Given the description of an element on the screen output the (x, y) to click on. 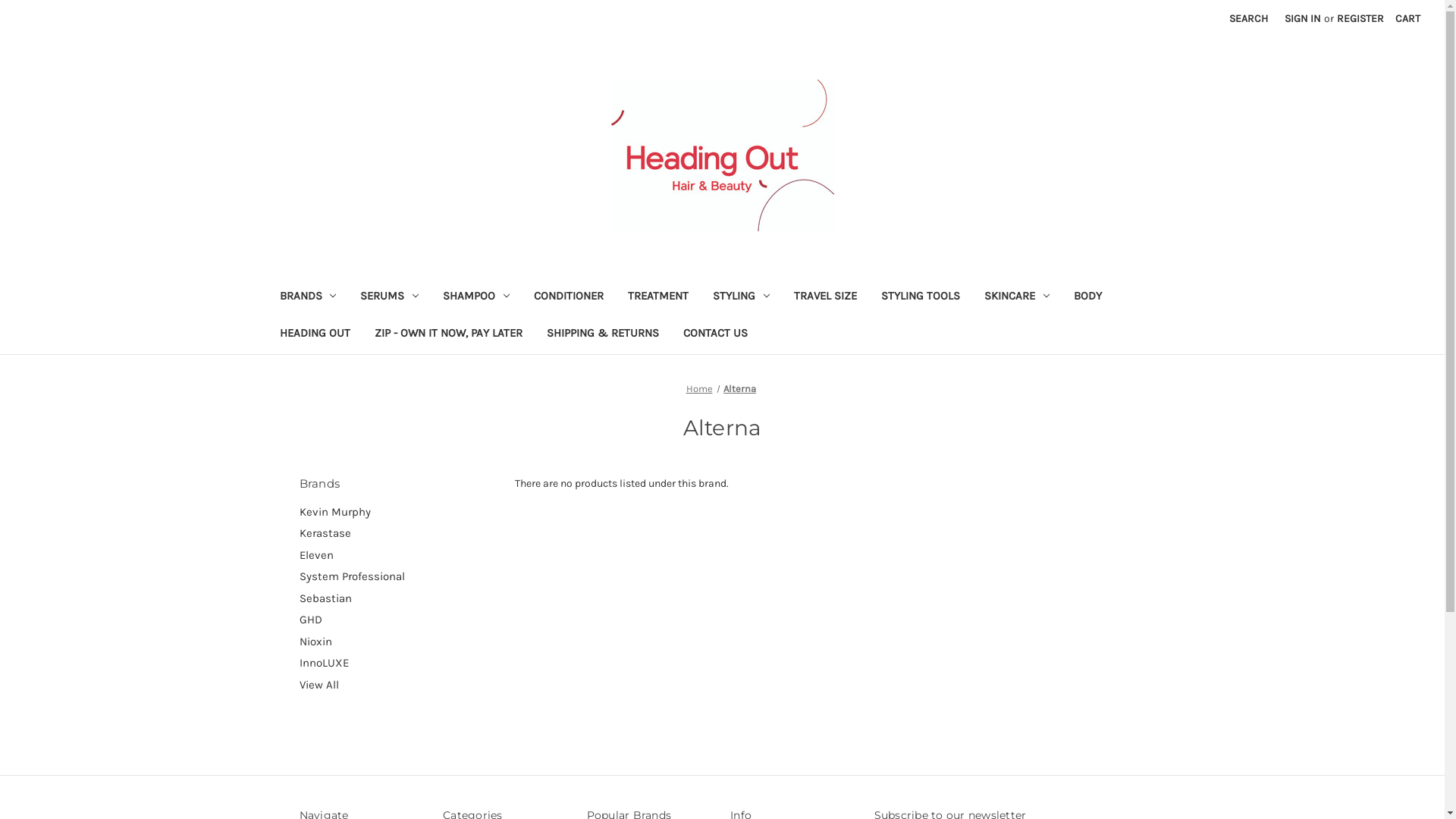
SHIPPING & RETURNS Element type: text (601, 334)
View All Element type: text (398, 685)
Sebastian Element type: text (398, 598)
TRAVEL SIZE Element type: text (825, 297)
Kevin Murphy Element type: text (398, 512)
ZIP - OWN IT NOW, PAY LATER Element type: text (448, 334)
REGISTER Element type: text (1360, 18)
Heading Out Shop Element type: hover (722, 155)
CONTACT US Element type: text (714, 334)
HEADING OUT Element type: text (313, 334)
Eleven Element type: text (398, 555)
STYLING Element type: text (740, 297)
SIGN IN Element type: text (1302, 18)
SERUMS Element type: text (389, 297)
STYLING TOOLS Element type: text (920, 297)
Home Element type: text (698, 388)
System Professional Element type: text (398, 576)
SEARCH Element type: text (1248, 18)
BODY Element type: text (1087, 297)
TREATMENT Element type: text (657, 297)
Alterna Element type: text (739, 388)
GHD Element type: text (398, 619)
Kerastase Element type: text (398, 533)
BRANDS Element type: text (307, 297)
CONDITIONER Element type: text (568, 297)
CART Element type: text (1407, 18)
SKINCARE Element type: text (1016, 297)
SHAMPOO Element type: text (475, 297)
Nioxin Element type: text (398, 641)
InnoLUXE Element type: text (398, 663)
